Given the description of an element on the screen output the (x, y) to click on. 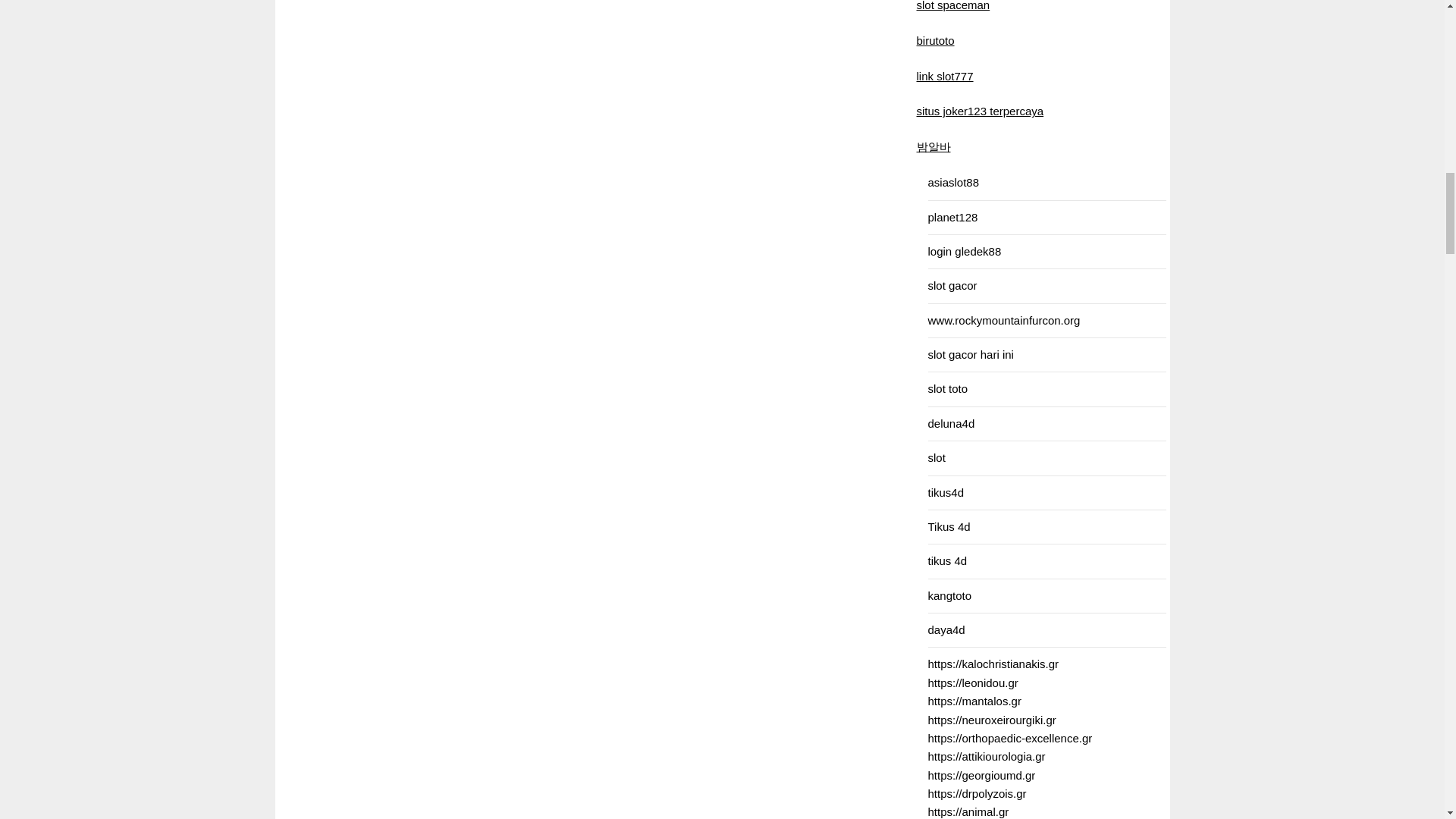
asiaslot88 (953, 182)
login gledek88 (964, 250)
planet128 (953, 216)
birutoto (934, 40)
situs joker123 terpercaya (979, 110)
slot gacor (952, 285)
slot spaceman (952, 5)
link slot777 (943, 75)
www.rockymountainfurcon.org (1004, 319)
